Given the description of an element on the screen output the (x, y) to click on. 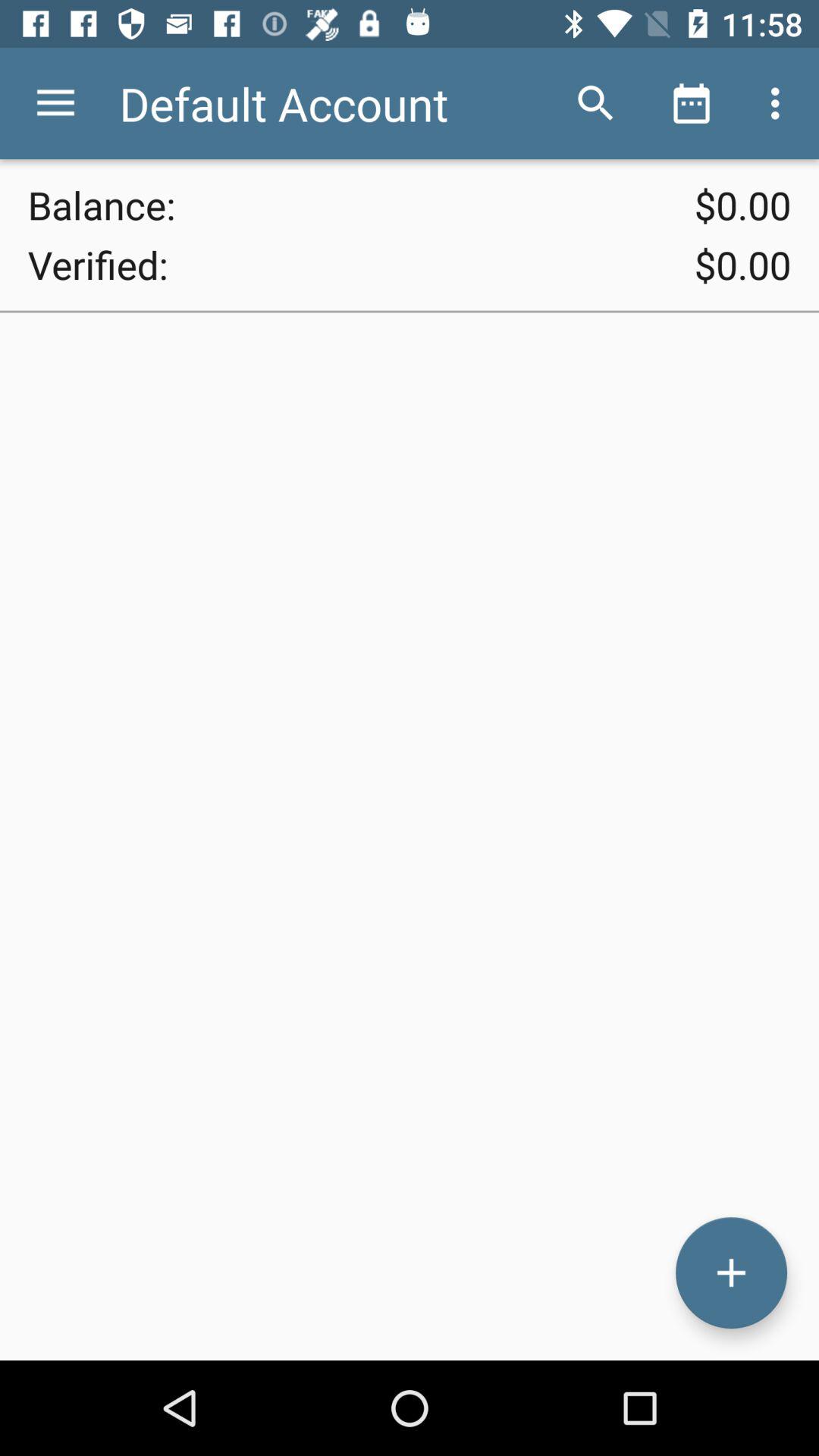
launch the item above $0.00 icon (691, 103)
